Given the description of an element on the screen output the (x, y) to click on. 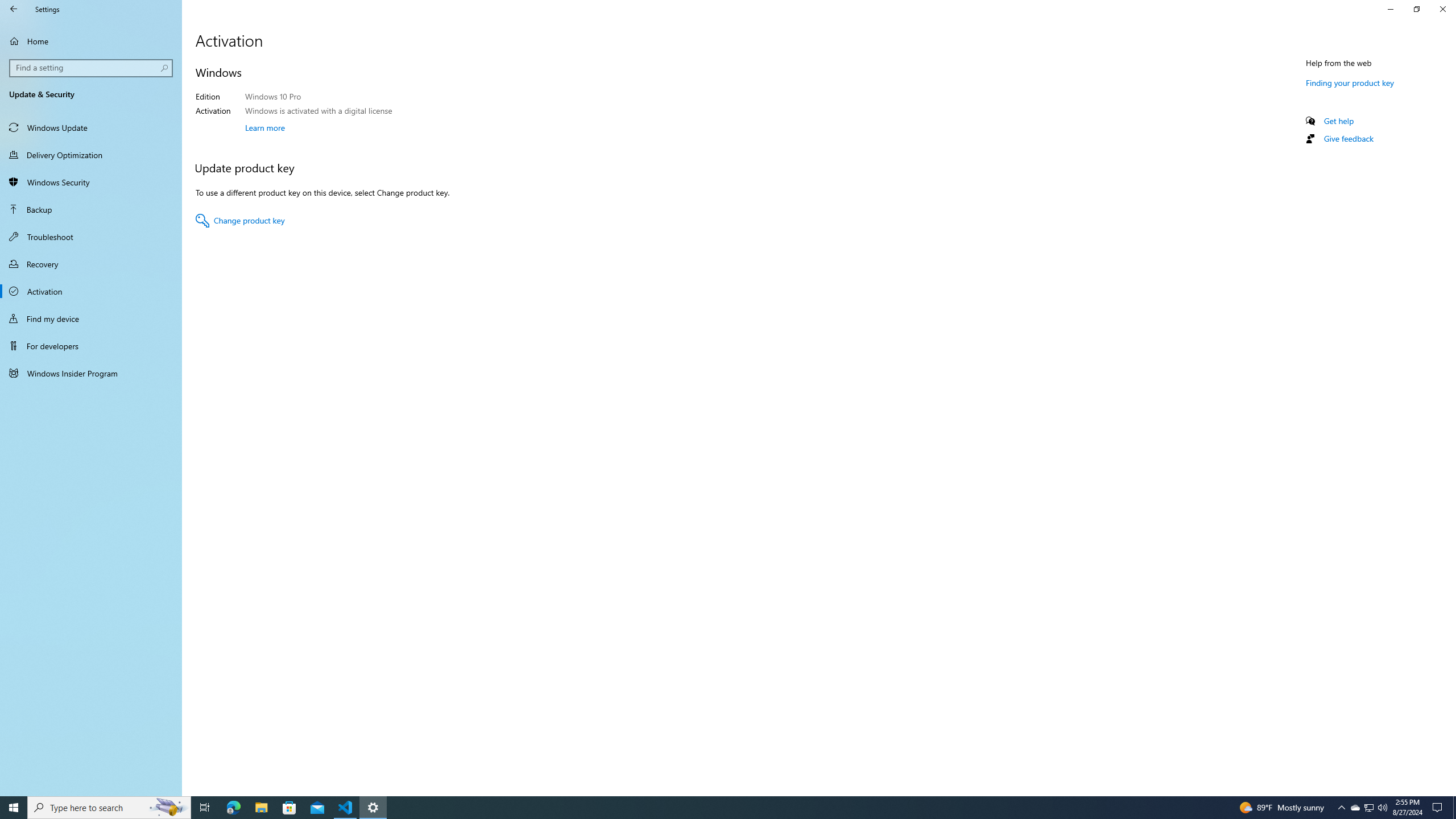
Start (1368, 807)
Search box, Find a setting (13, 807)
Microsoft Edge (91, 67)
Q2790: 100% (233, 807)
Running applications (1382, 807)
Give feedback (717, 807)
Visual Studio Code - 1 running window (1348, 138)
Close Settings (345, 807)
Action Center, No new notifications (1442, 9)
Troubleshoot (1439, 807)
Home (91, 236)
Delivery Optimization (91, 40)
